Given the description of an element on the screen output the (x, y) to click on. 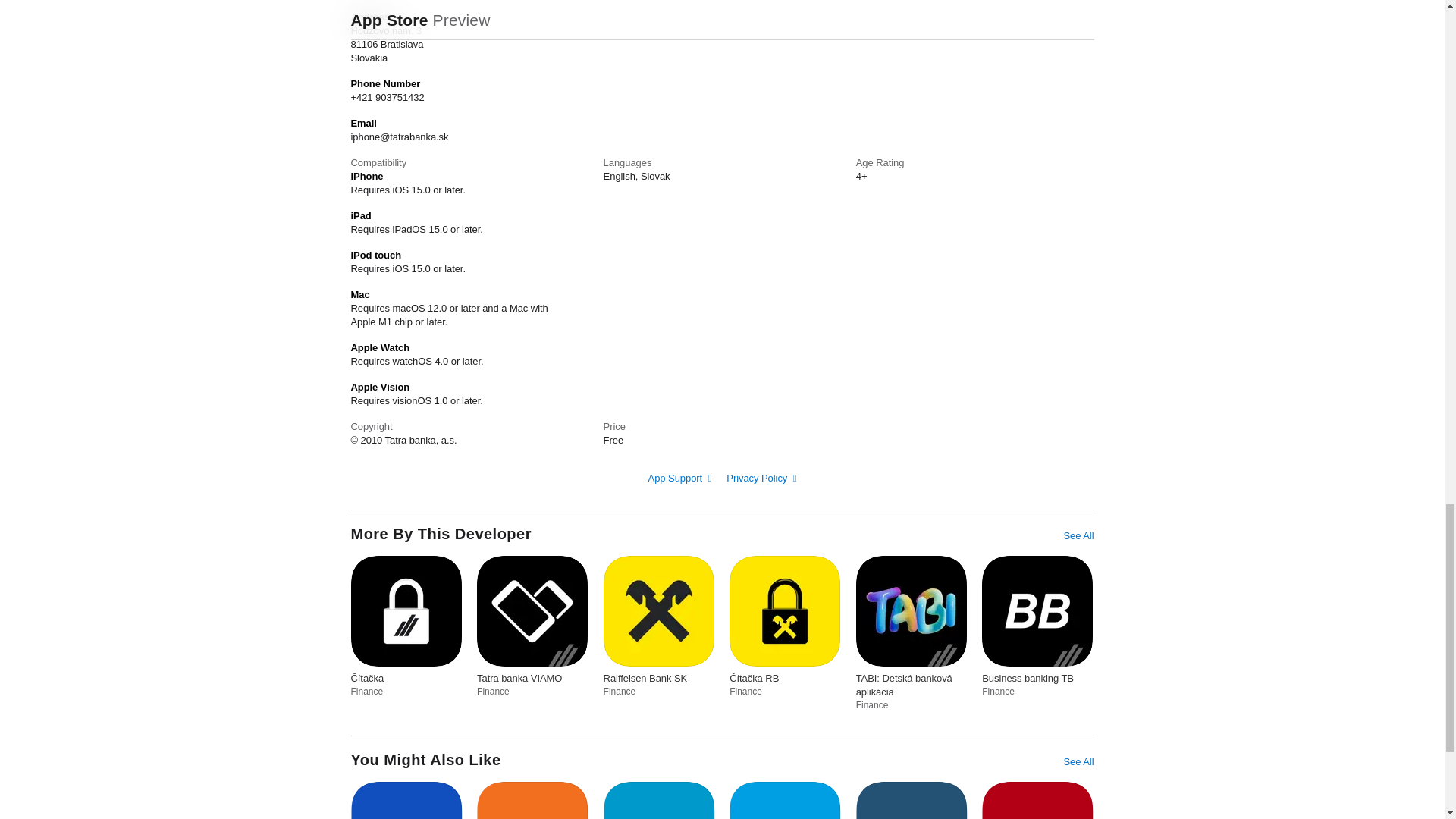
Privacy Policy (761, 478)
App Support (679, 478)
See All (1077, 535)
